Given the description of an element on the screen output the (x, y) to click on. 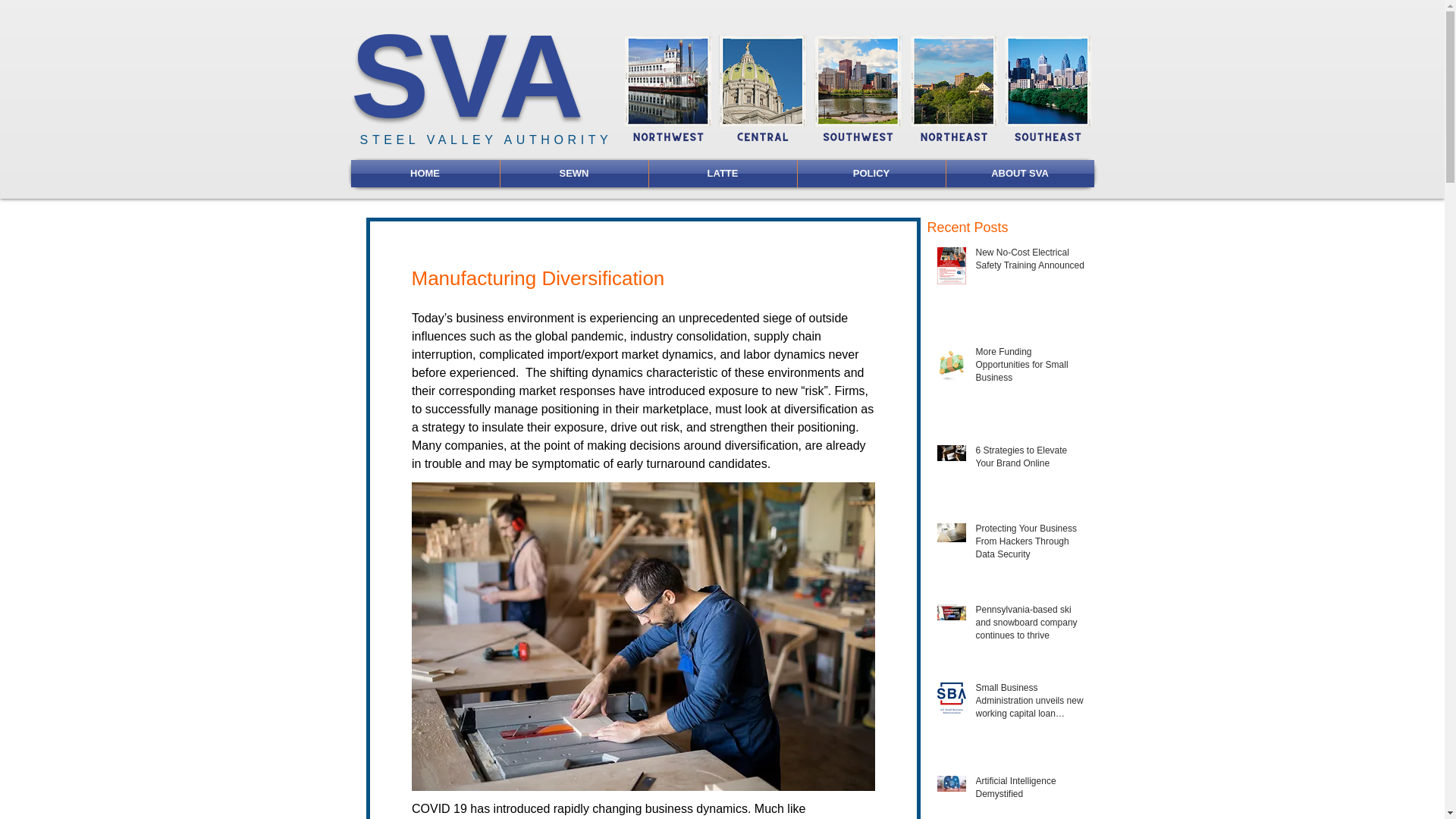
New No-Cost Electrical Safety Training Announced (1029, 262)
LATTE (722, 173)
HOME (424, 173)
POLICY (870, 173)
Protecting Your Business From Hackers Through Data Security (1029, 544)
SEWN (573, 173)
More Funding Opportunities for Small Business (1029, 367)
ABOUT SVA (1020, 173)
